Given the description of an element on the screen output the (x, y) to click on. 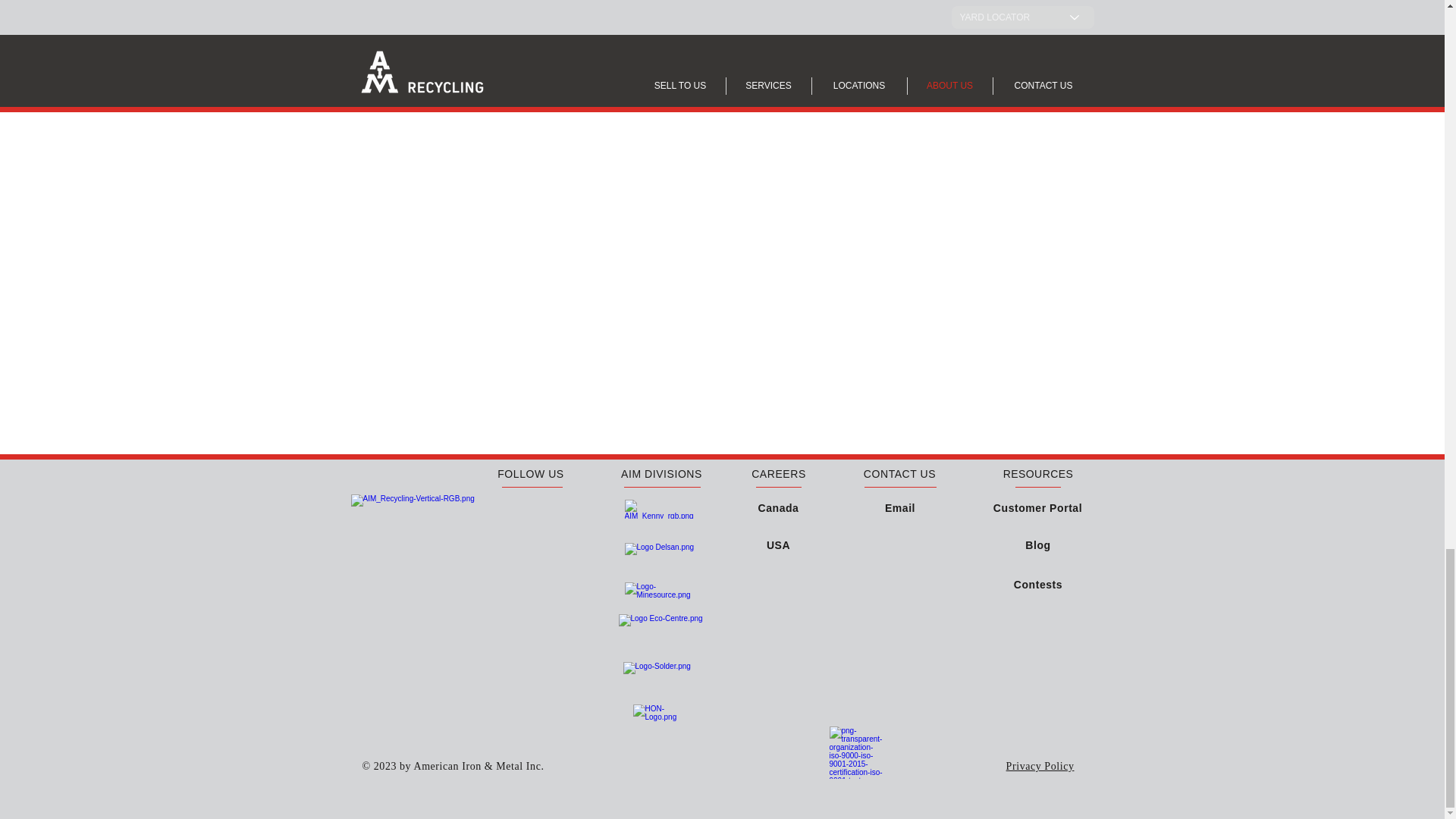
USA (778, 544)
Contests (1037, 583)
Email (900, 508)
Canada (778, 507)
Customer Portal (1036, 507)
Privacy Policy (1040, 765)
Blog (1037, 544)
